Given the description of an element on the screen output the (x, y) to click on. 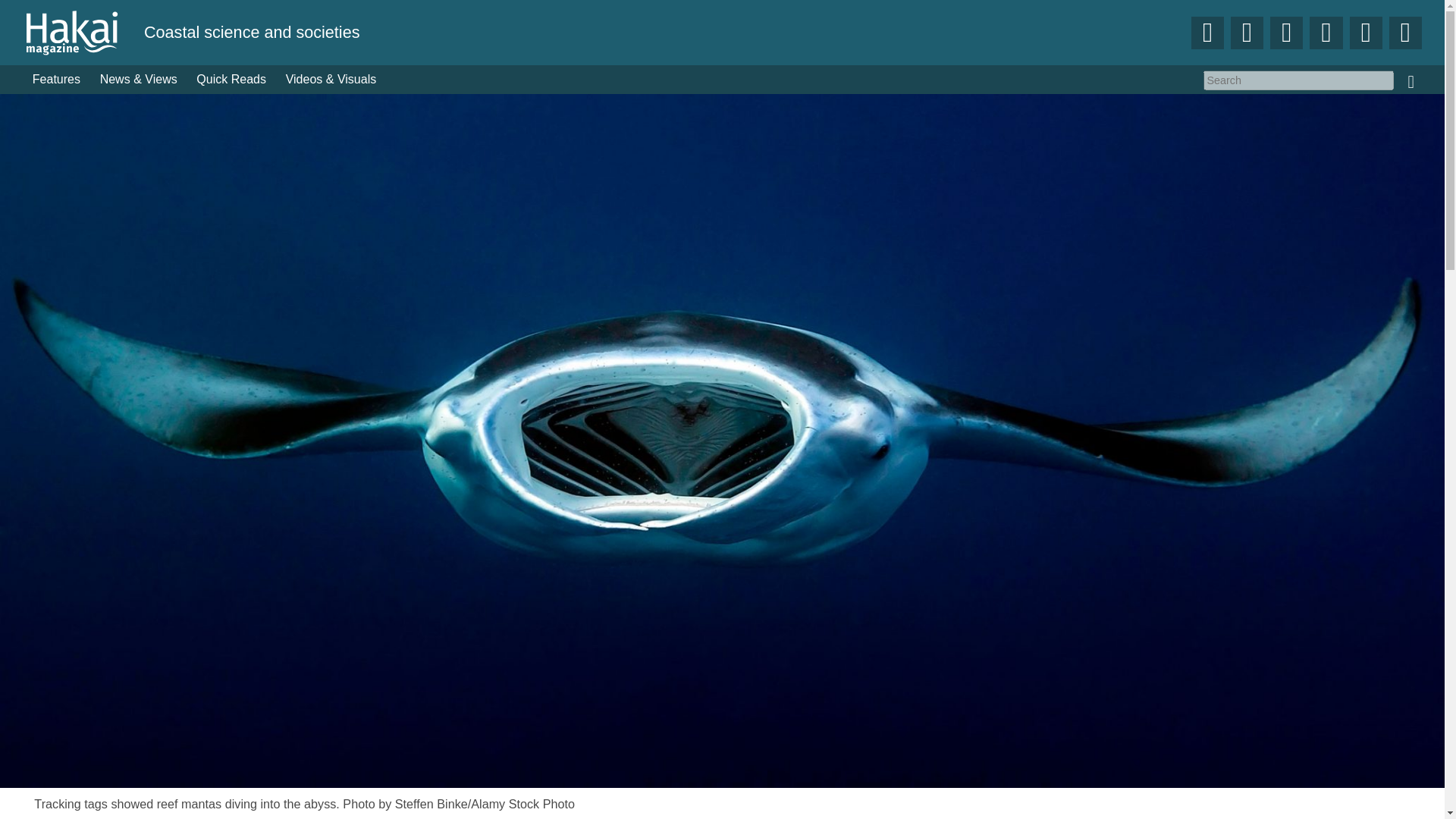
Features (56, 79)
Hakai Magazine (83, 32)
Search for: (1298, 80)
Quick Reads (231, 79)
